Given the description of an element on the screen output the (x, y) to click on. 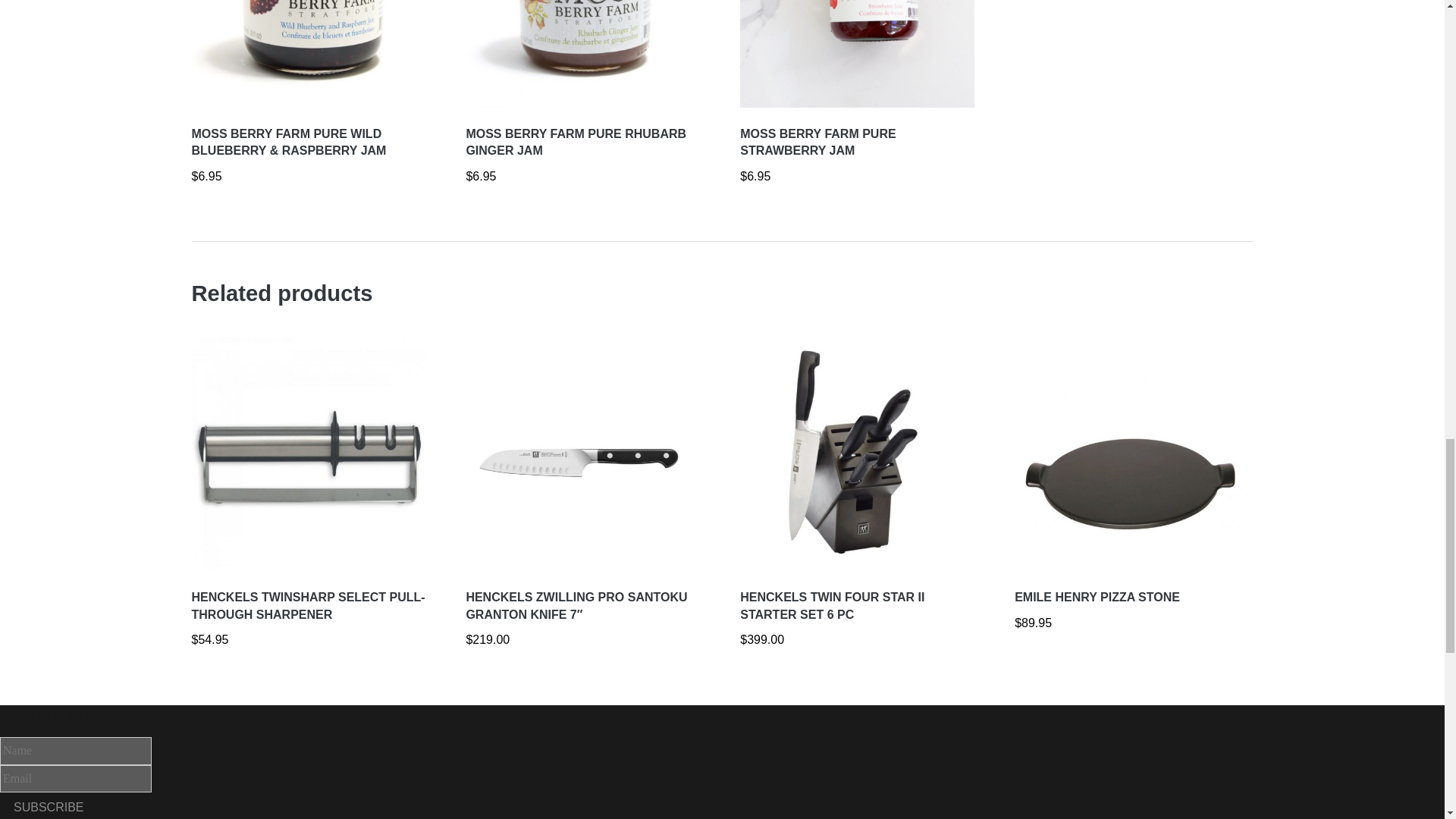
Subscribe (48, 805)
Subscribe (48, 805)
